Given the description of an element on the screen output the (x, y) to click on. 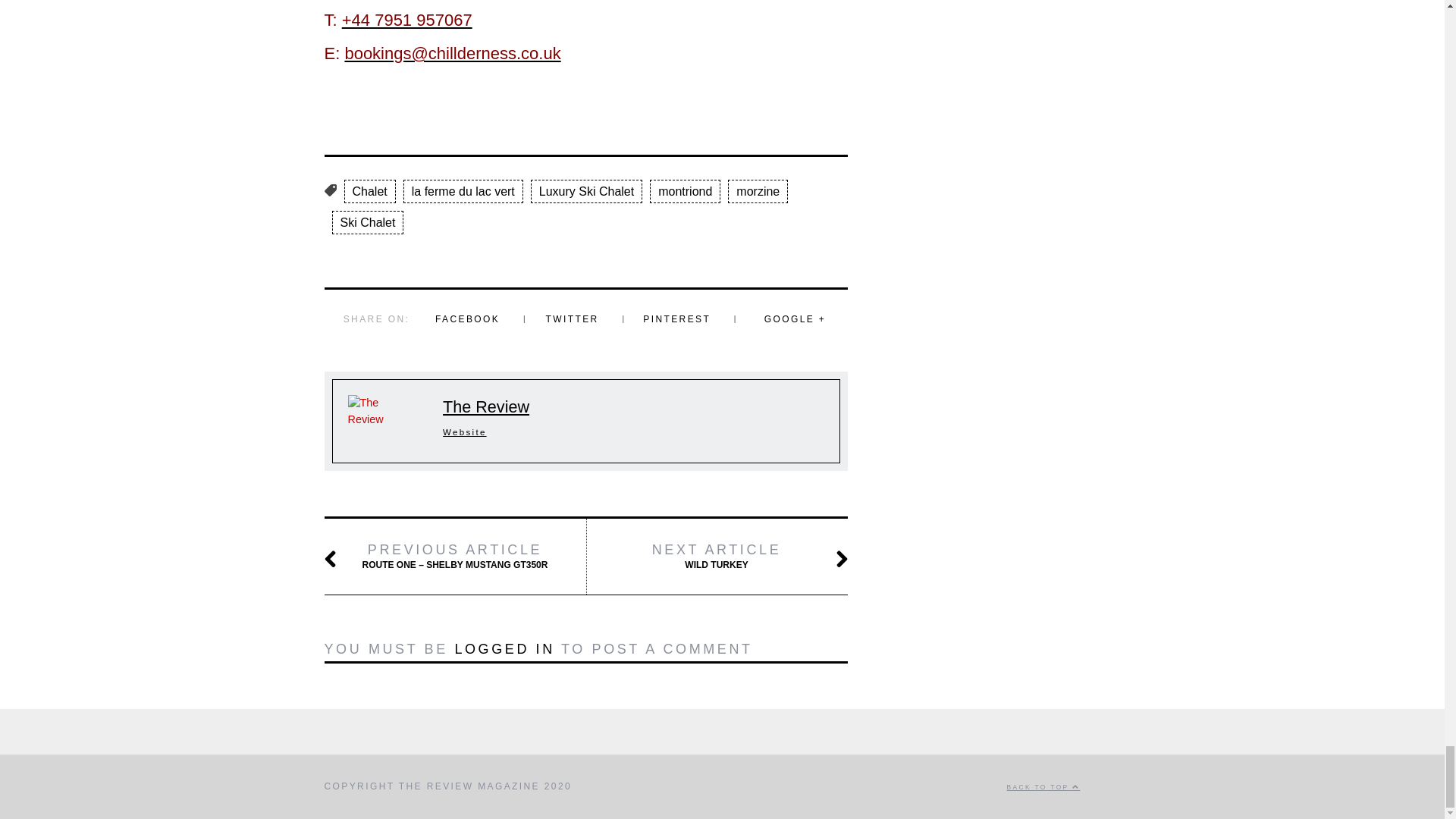
Luxury Ski Chalet (586, 191)
Chalet (369, 191)
la ferme du lac vert (462, 191)
